Given the description of an element on the screen output the (x, y) to click on. 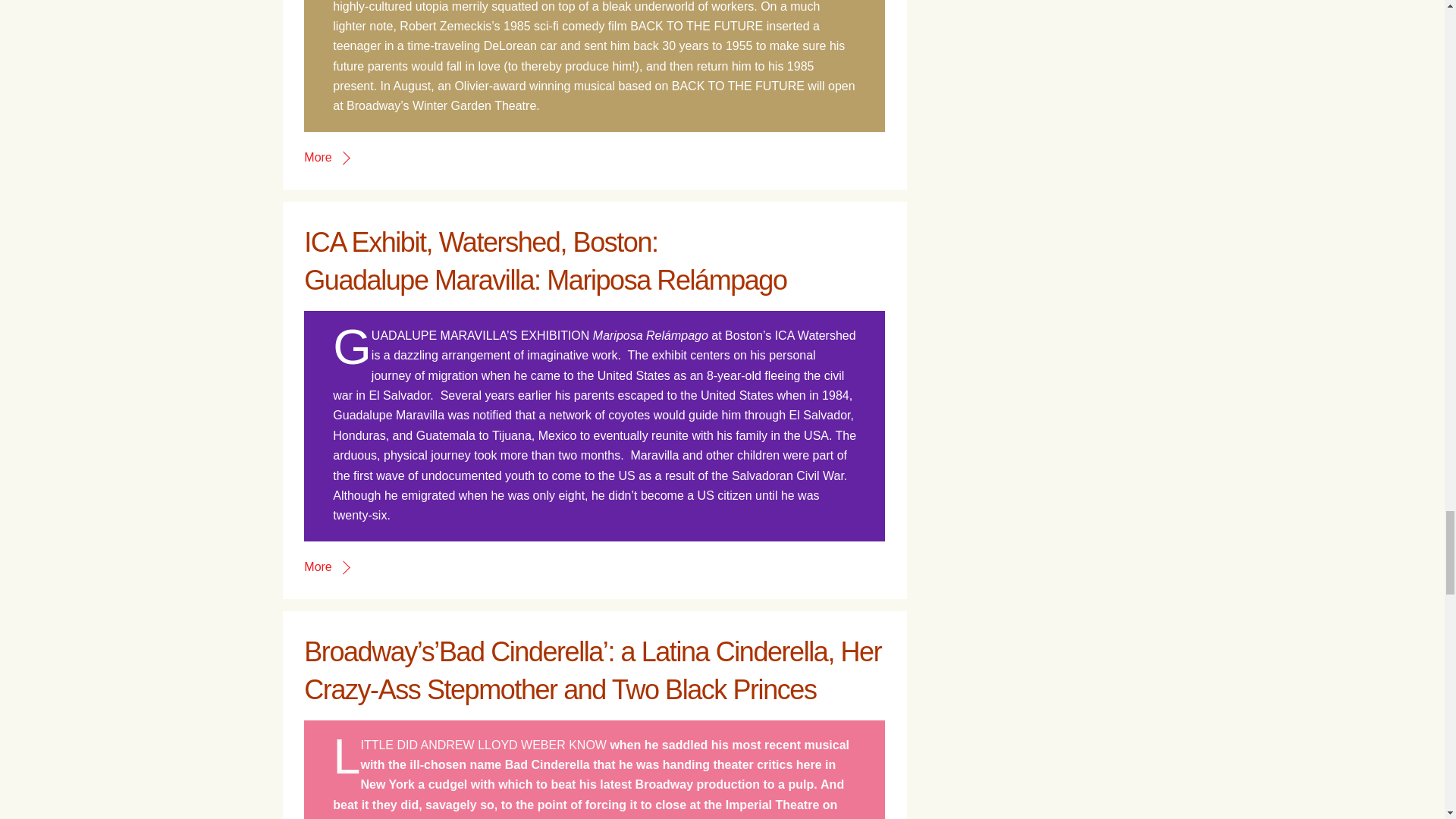
More (325, 566)
More (325, 156)
